Given the description of an element on the screen output the (x, y) to click on. 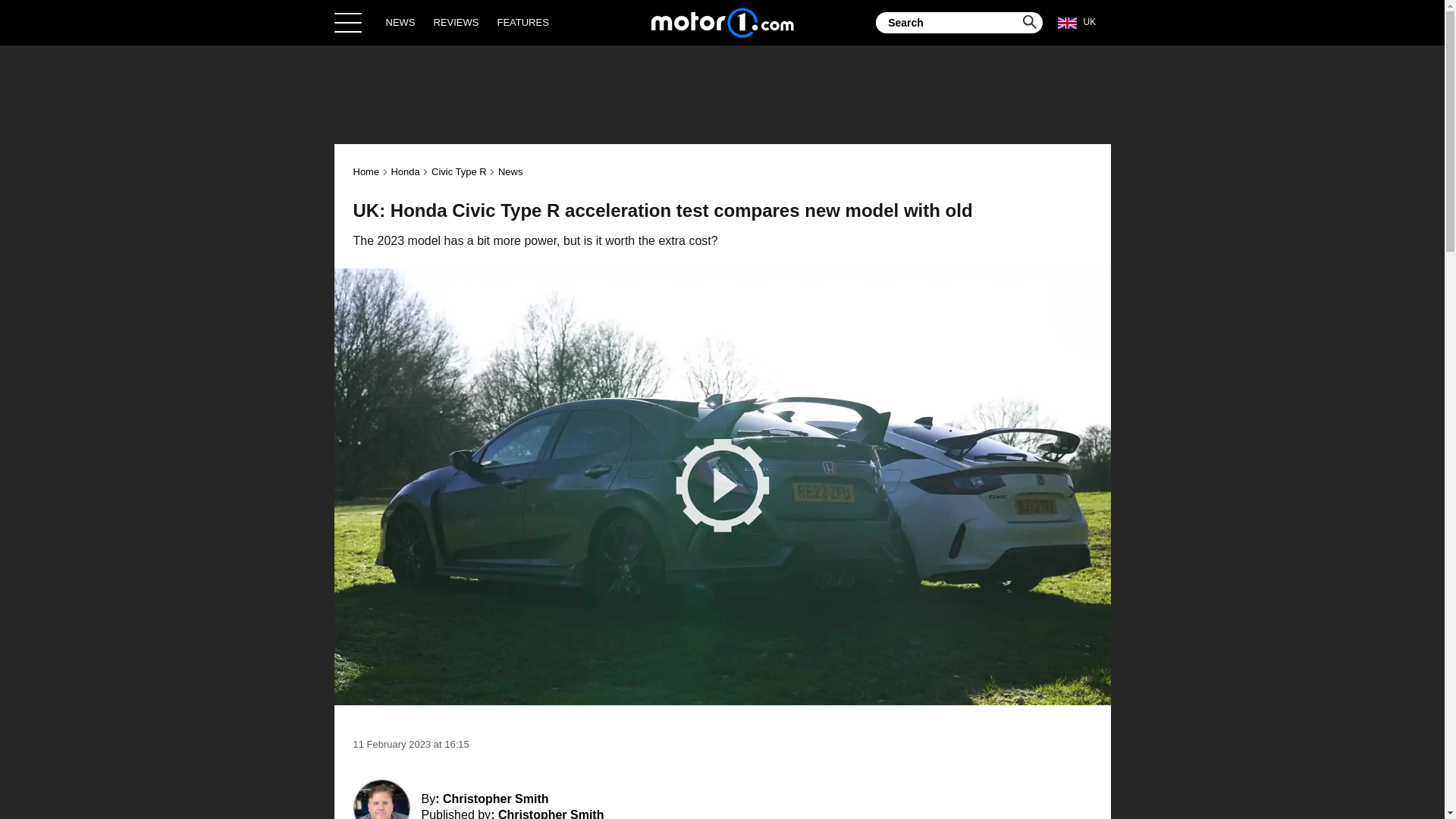
Home (721, 22)
Home (366, 171)
Honda (404, 171)
REVIEWS (456, 22)
Christopher Smith (550, 813)
Civic Type R (458, 171)
FEATURES (522, 22)
News (509, 171)
NEWS (399, 22)
